Given the description of an element on the screen output the (x, y) to click on. 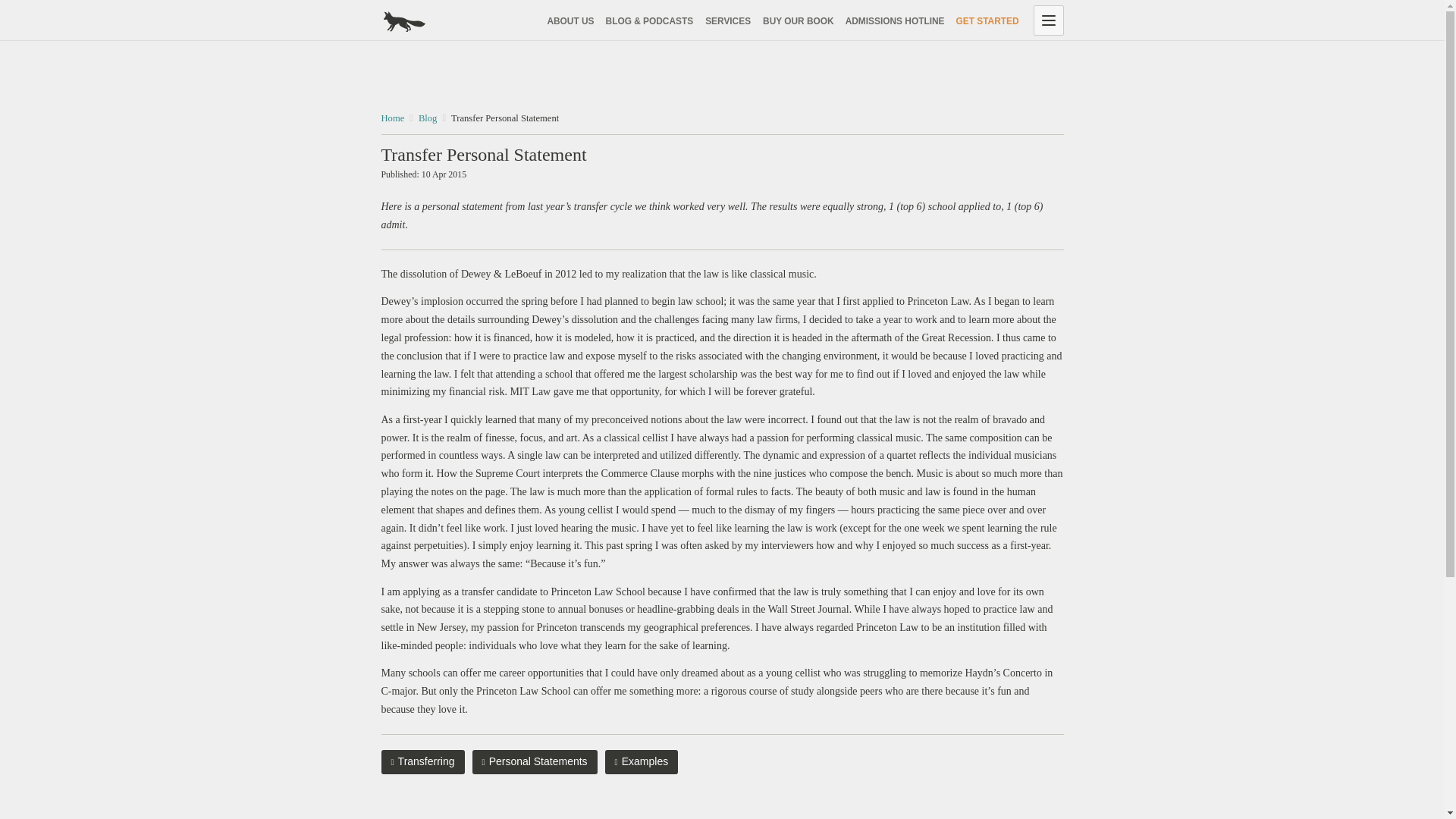
SERVICES (727, 21)
BUY OUR BOOK (798, 21)
ADMISSIONS HOTLINE (894, 21)
GET STARTED (986, 21)
ABOUT US (570, 21)
